Given the description of an element on the screen output the (x, y) to click on. 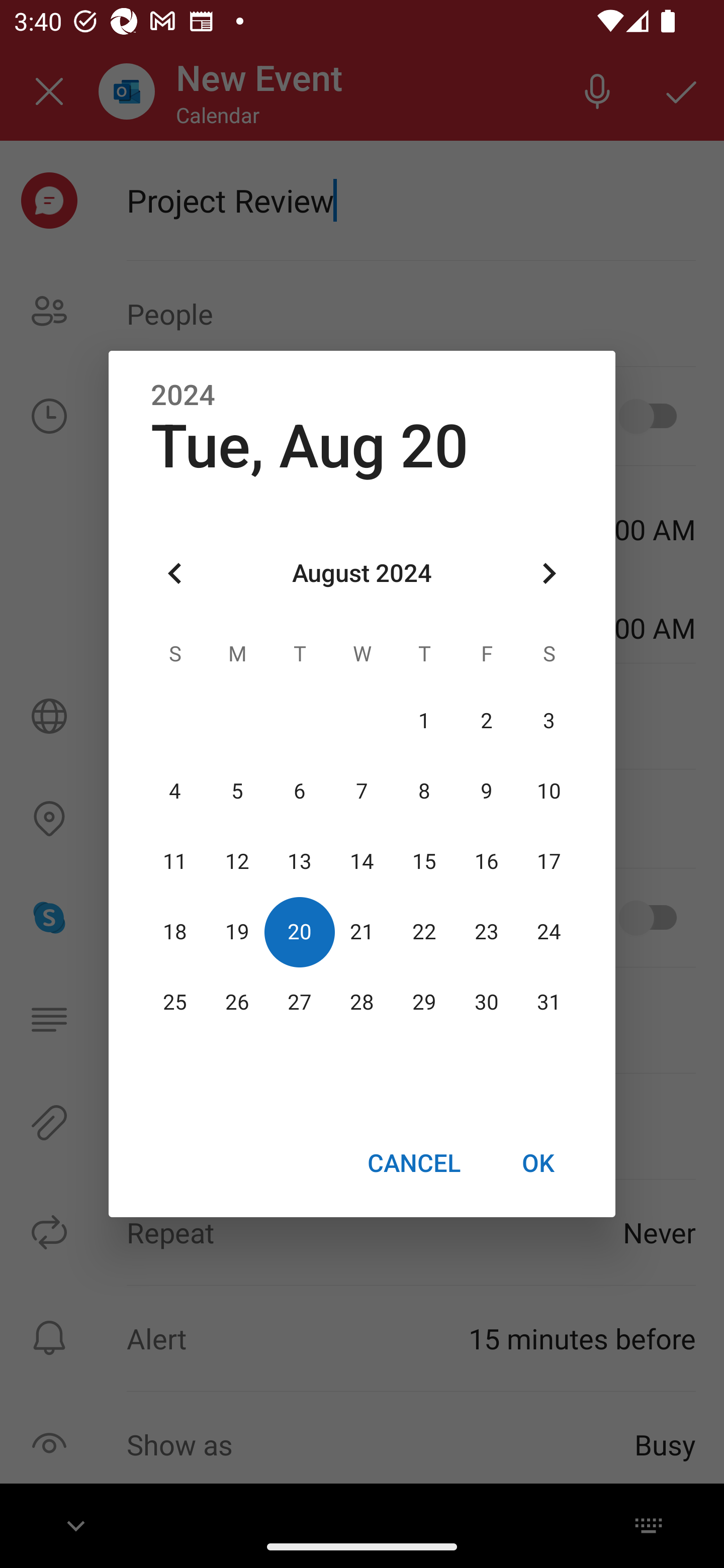
2024 (182, 395)
Tue, Aug 20 (309, 446)
Previous month (174, 573)
Next month (548, 573)
1 01 August 2024 (424, 720)
2 02 August 2024 (486, 720)
3 03 August 2024 (548, 720)
4 04 August 2024 (175, 790)
5 05 August 2024 (237, 790)
6 06 August 2024 (299, 790)
7 07 August 2024 (361, 790)
8 08 August 2024 (424, 790)
9 09 August 2024 (486, 790)
10 10 August 2024 (548, 790)
11 11 August 2024 (175, 861)
12 12 August 2024 (237, 861)
13 13 August 2024 (299, 861)
14 14 August 2024 (361, 861)
15 15 August 2024 (424, 861)
16 16 August 2024 (486, 861)
17 17 August 2024 (548, 861)
18 18 August 2024 (175, 931)
19 19 August 2024 (237, 931)
20 20 August 2024 (299, 931)
21 21 August 2024 (361, 931)
22 22 August 2024 (424, 931)
23 23 August 2024 (486, 931)
24 24 August 2024 (548, 931)
25 25 August 2024 (175, 1002)
26 26 August 2024 (237, 1002)
27 27 August 2024 (299, 1002)
28 28 August 2024 (361, 1002)
29 29 August 2024 (424, 1002)
30 30 August 2024 (486, 1002)
31 31 August 2024 (548, 1002)
CANCEL (413, 1162)
OK (537, 1162)
